Given the description of an element on the screen output the (x, y) to click on. 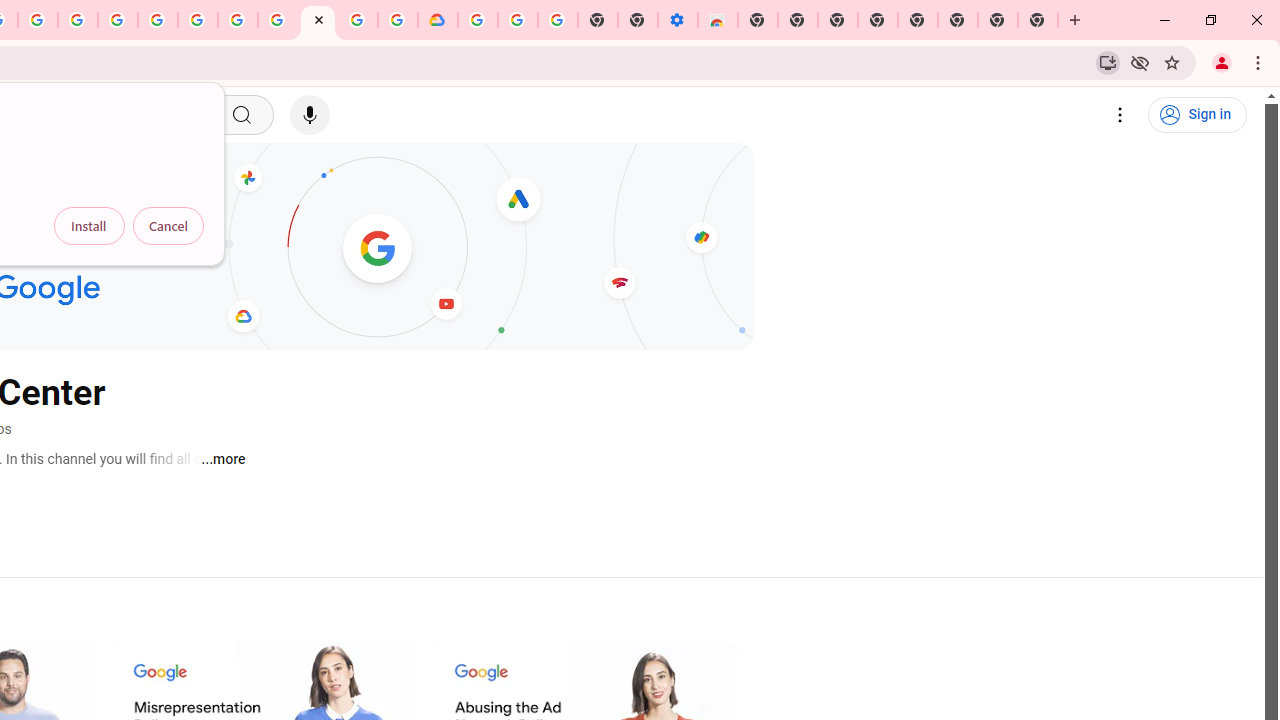
Settings - Accessibility (677, 20)
